Given the description of an element on the screen output the (x, y) to click on. 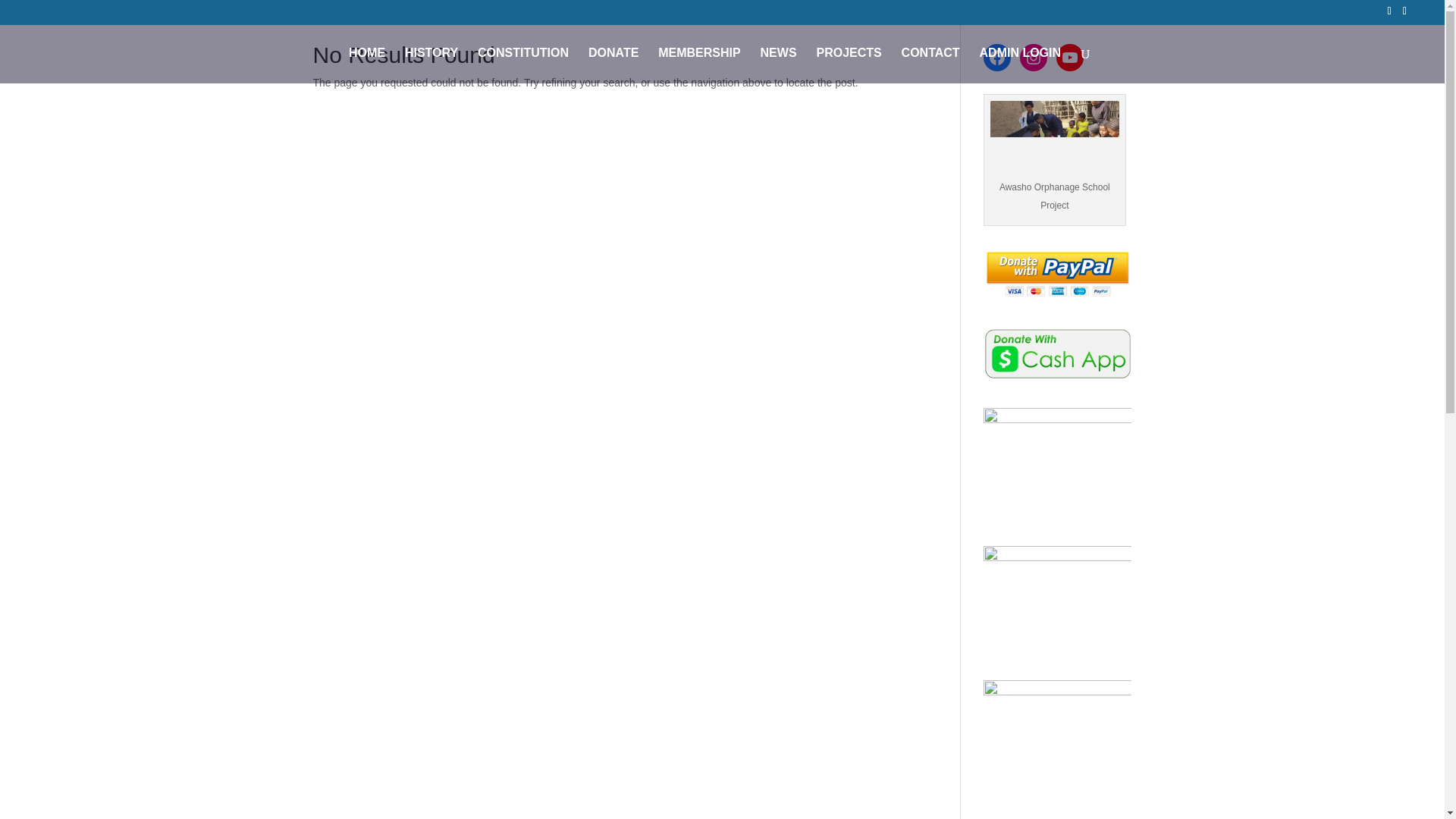
MEMBERSHIP (698, 65)
Instagram (1033, 57)
Awasho Orphanage School Project (1054, 136)
HOME (367, 65)
ADMIN LOGIN (1020, 65)
CONSTITUTION (523, 65)
NEWS (778, 65)
YouTube (1070, 57)
DONATE (613, 65)
Donate (1057, 273)
Donate (1057, 353)
Facebook (997, 57)
HISTORY (431, 65)
CONTACT (930, 65)
PROJECTS (847, 65)
